Given the description of an element on the screen output the (x, y) to click on. 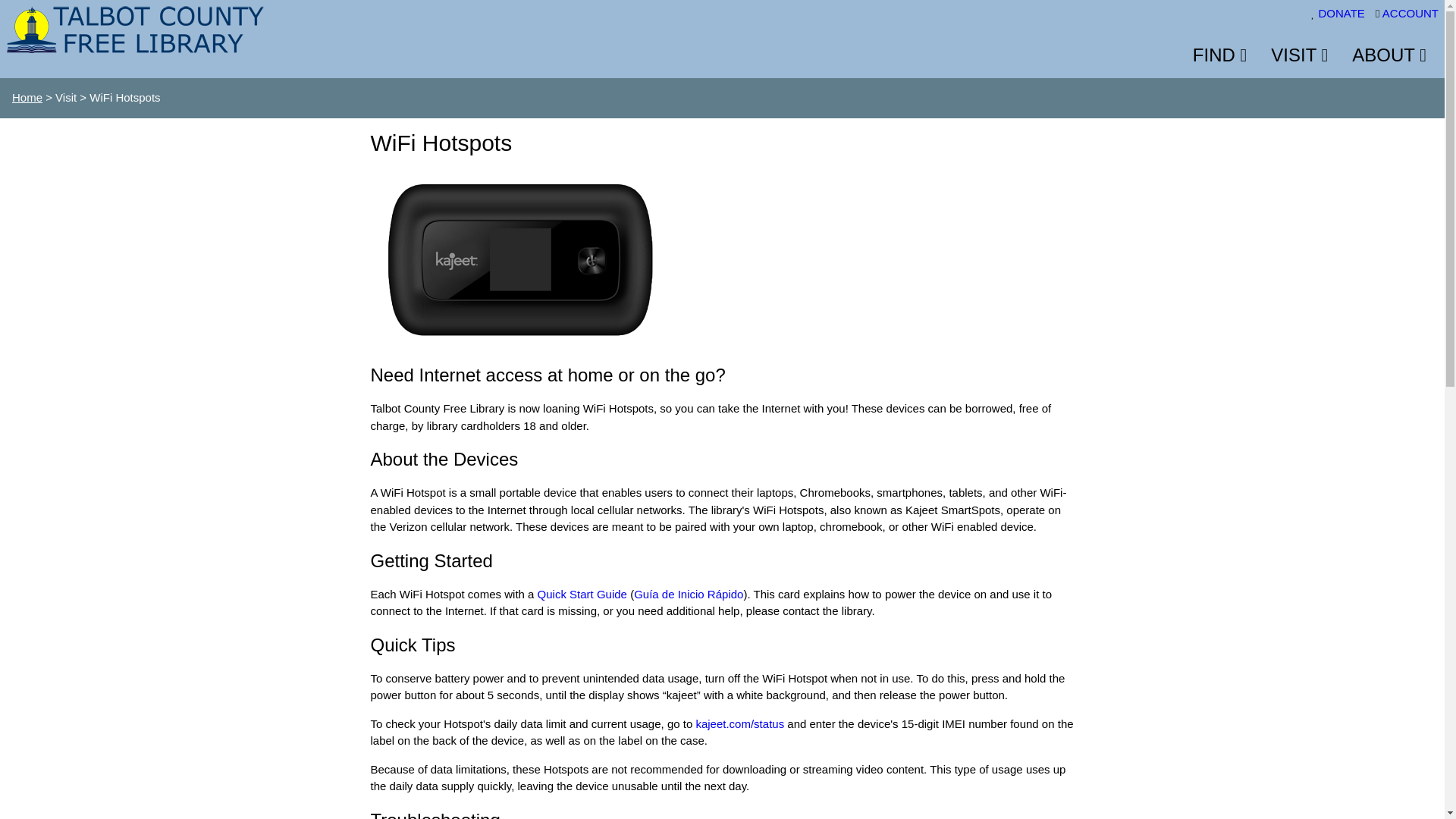
FIND (1219, 55)
Visit (1299, 55)
About (1388, 55)
VISIT (1299, 55)
DONATE (1344, 12)
ACCOUNT (1409, 12)
ABOUT (1388, 55)
Find (1219, 55)
